Given the description of an element on the screen output the (x, y) to click on. 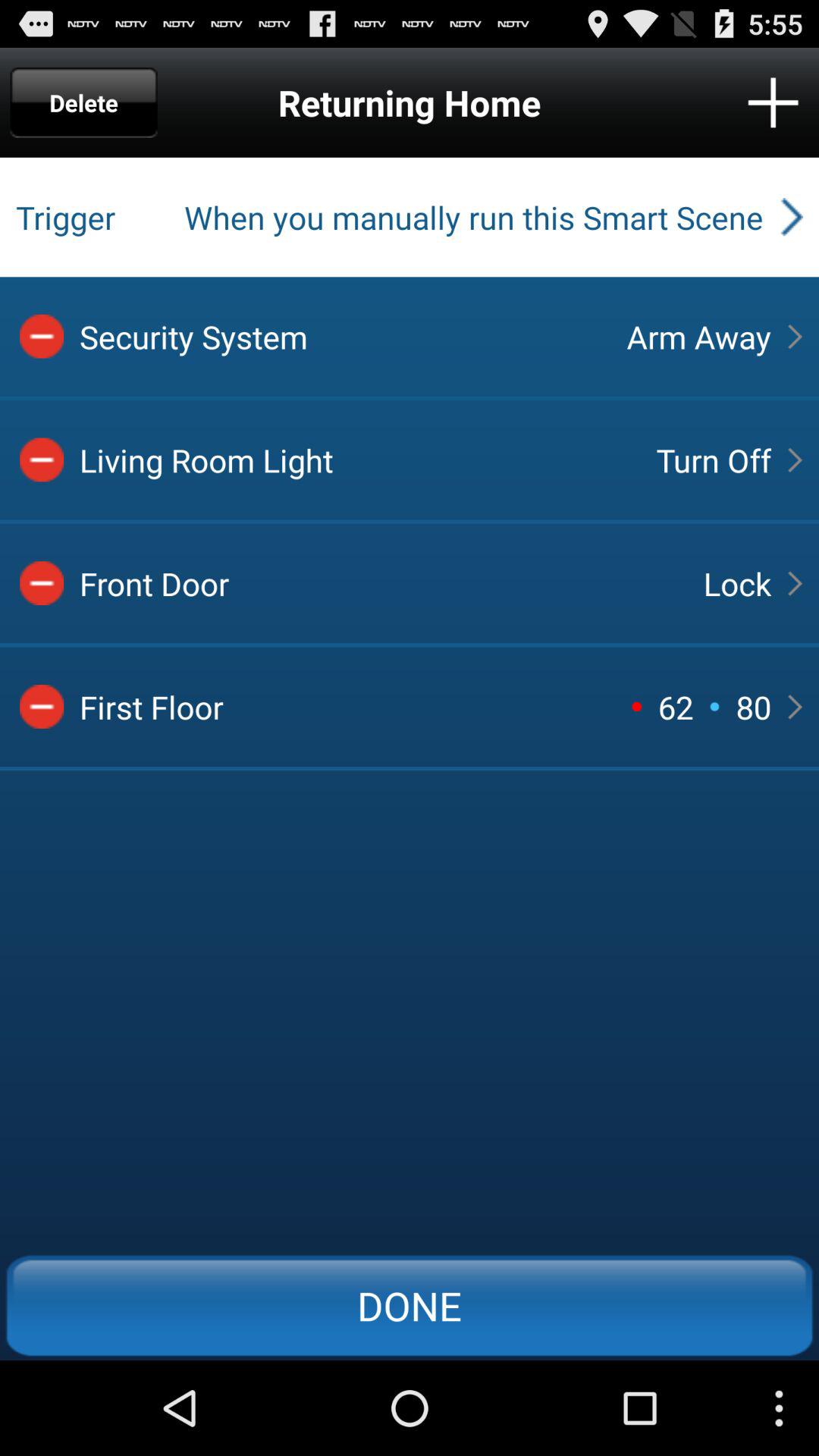
delete or get rid off (41, 459)
